Given the description of an element on the screen output the (x, y) to click on. 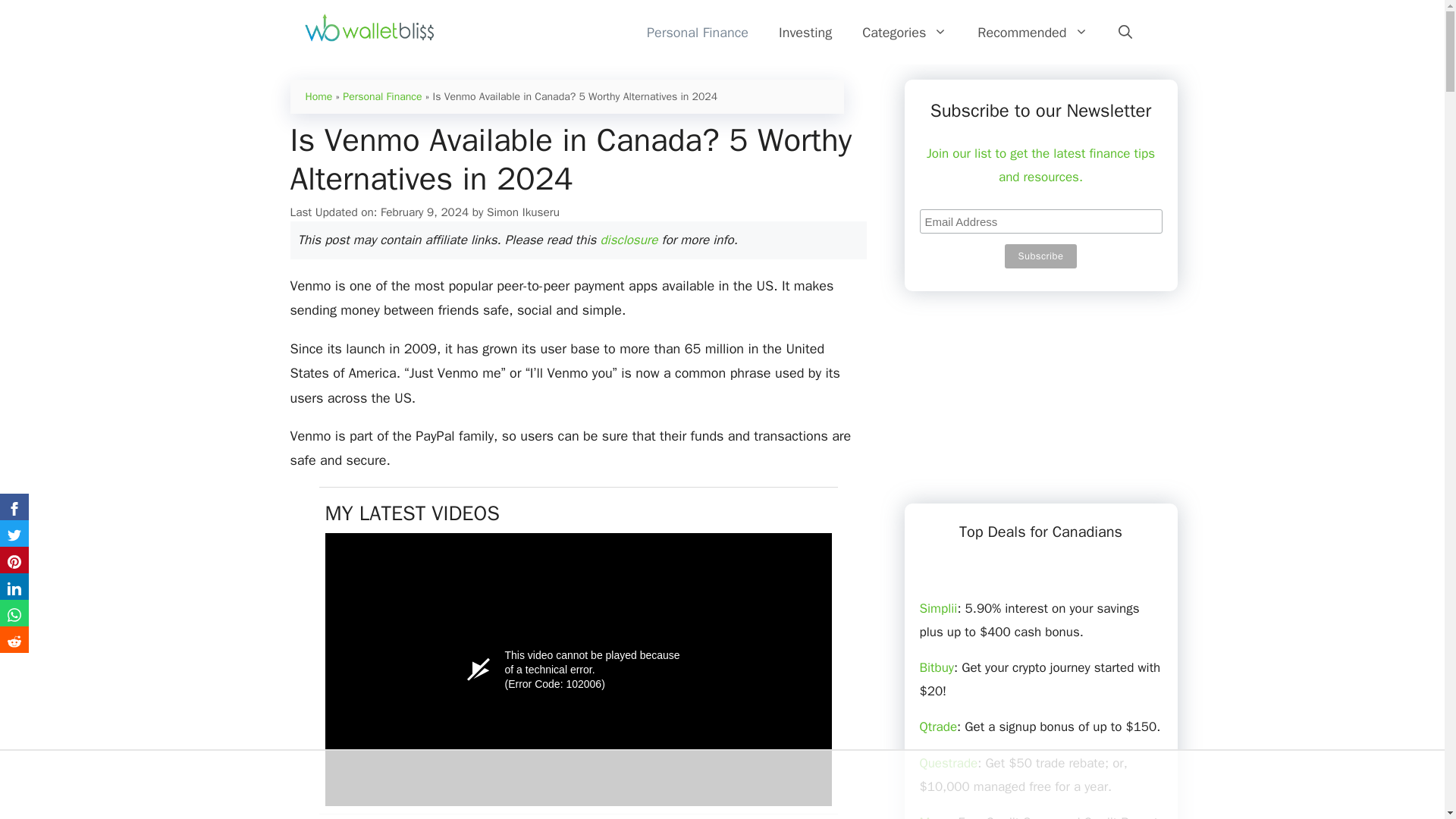
Home (317, 96)
disclosure (628, 239)
Subscribe (1040, 256)
Investing (804, 32)
Recommended (1032, 32)
Personal Finance (382, 96)
Personal Finance (696, 32)
Categories (904, 32)
